Given the description of an element on the screen output the (x, y) to click on. 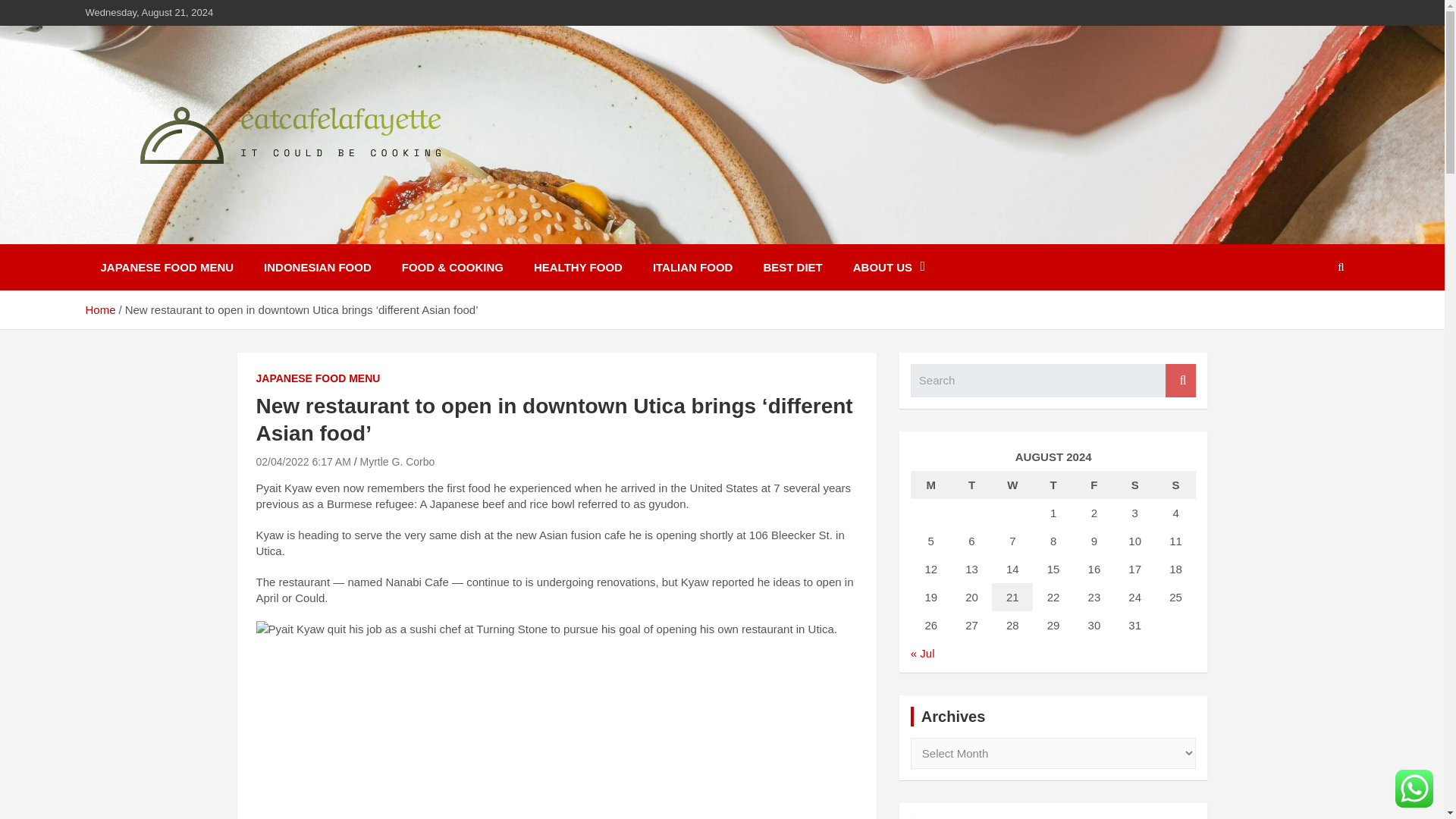
JAPANESE FOOD MENU (318, 378)
Myrtle G. Corbo (396, 461)
Friday (1094, 484)
Home (99, 309)
JAPANESE FOOD MENU (166, 267)
Sunday (1176, 484)
Tuesday (972, 484)
INDONESIAN FOOD (317, 267)
Wednesday (1011, 484)
HEALTHY FOOD (577, 267)
